Given the description of an element on the screen output the (x, y) to click on. 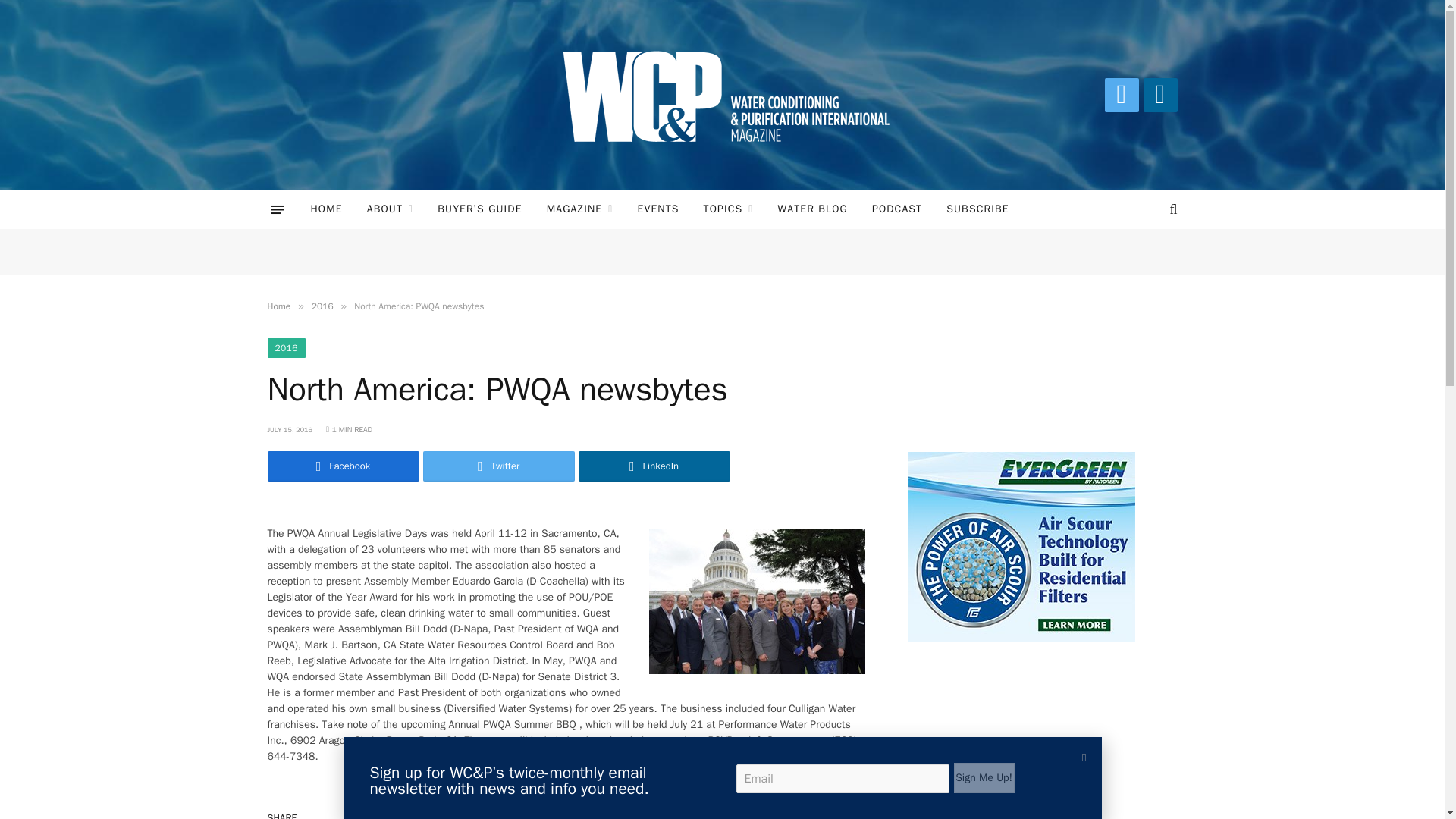
Share on LinkedIn (653, 466)
Twitter (1120, 93)
Share on Twitter (722, 812)
WCP Online (722, 94)
Share on LinkedIn (834, 812)
HOME (326, 209)
LinkedIn (1159, 93)
Share on Twitter (499, 466)
Share on Twitter (778, 812)
Share on Twitter (342, 466)
ABOUT (390, 209)
